Given the description of an element on the screen output the (x, y) to click on. 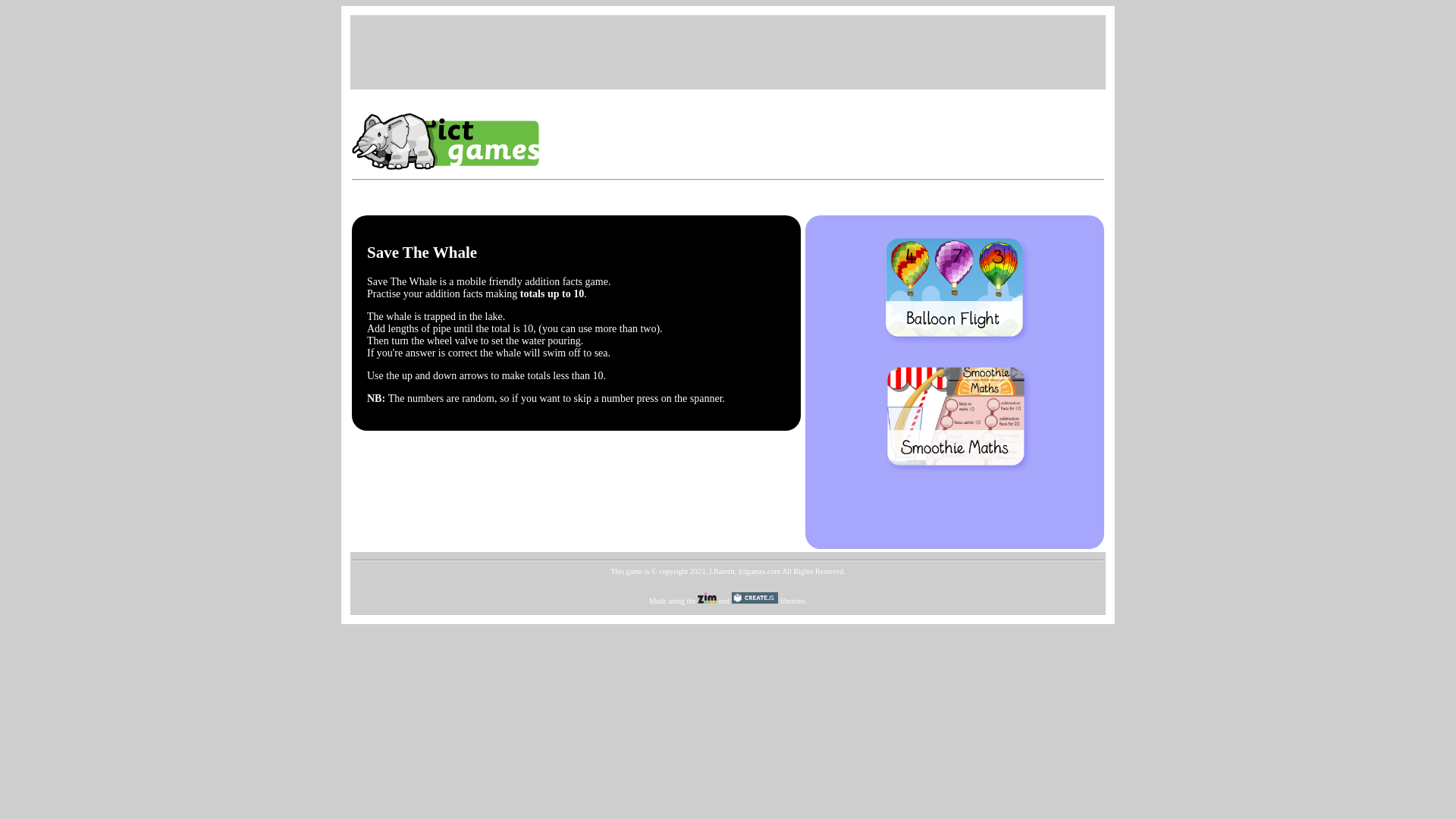
Advertisement (727, 50)
